Given the description of an element on the screen output the (x, y) to click on. 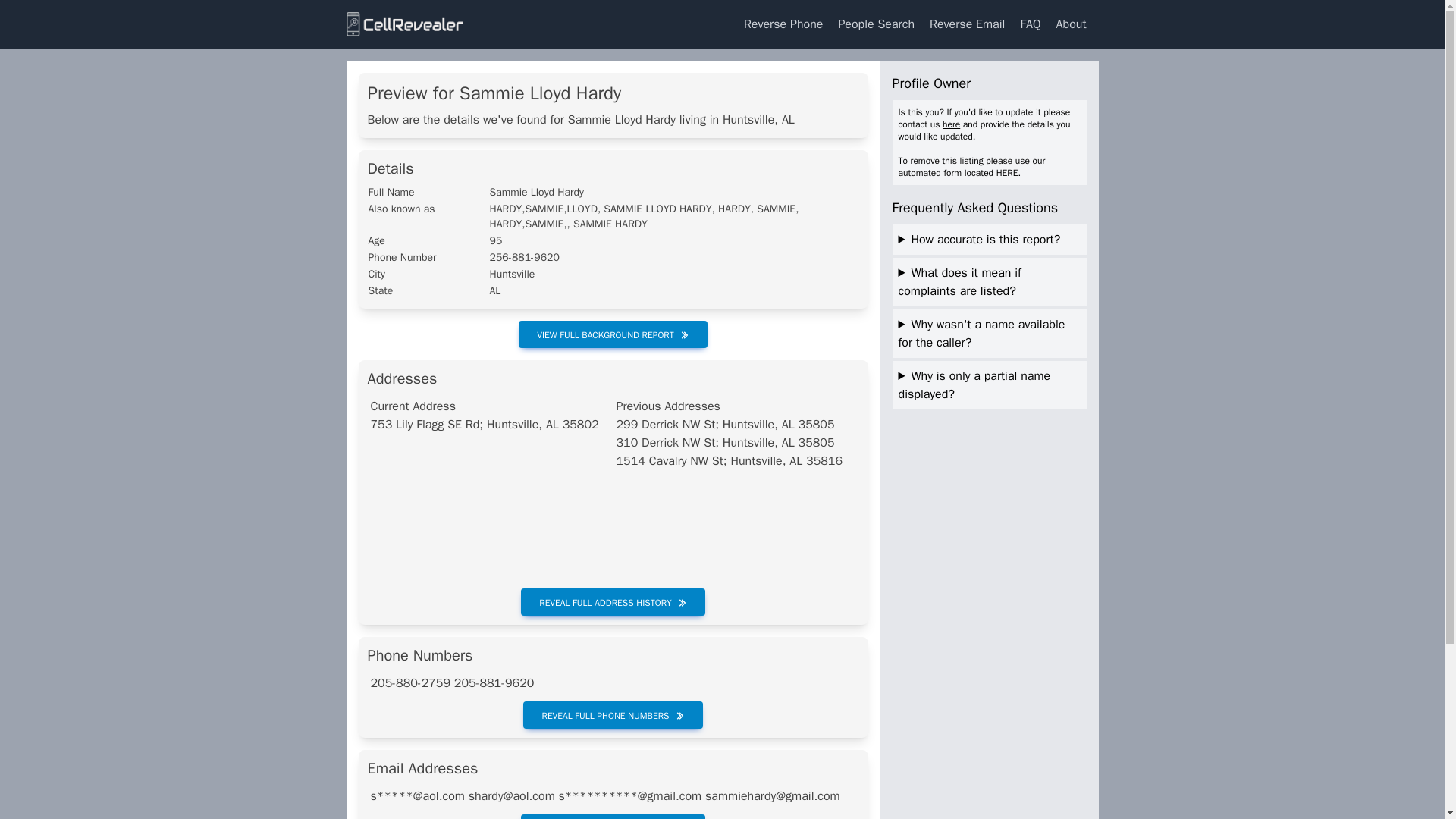
HERE (1006, 173)
Reverse Email (966, 24)
About (1070, 24)
205-881-9620 (494, 683)
FAQ (1029, 24)
here (950, 123)
REVEAL FULL ADDRESS HISTORY (612, 601)
Reverse Phone (783, 24)
REVEAL FULL EMAIL ADDRESSES (612, 816)
REVEAL FULL PHONE NUMBERS (611, 714)
